Given the description of an element on the screen output the (x, y) to click on. 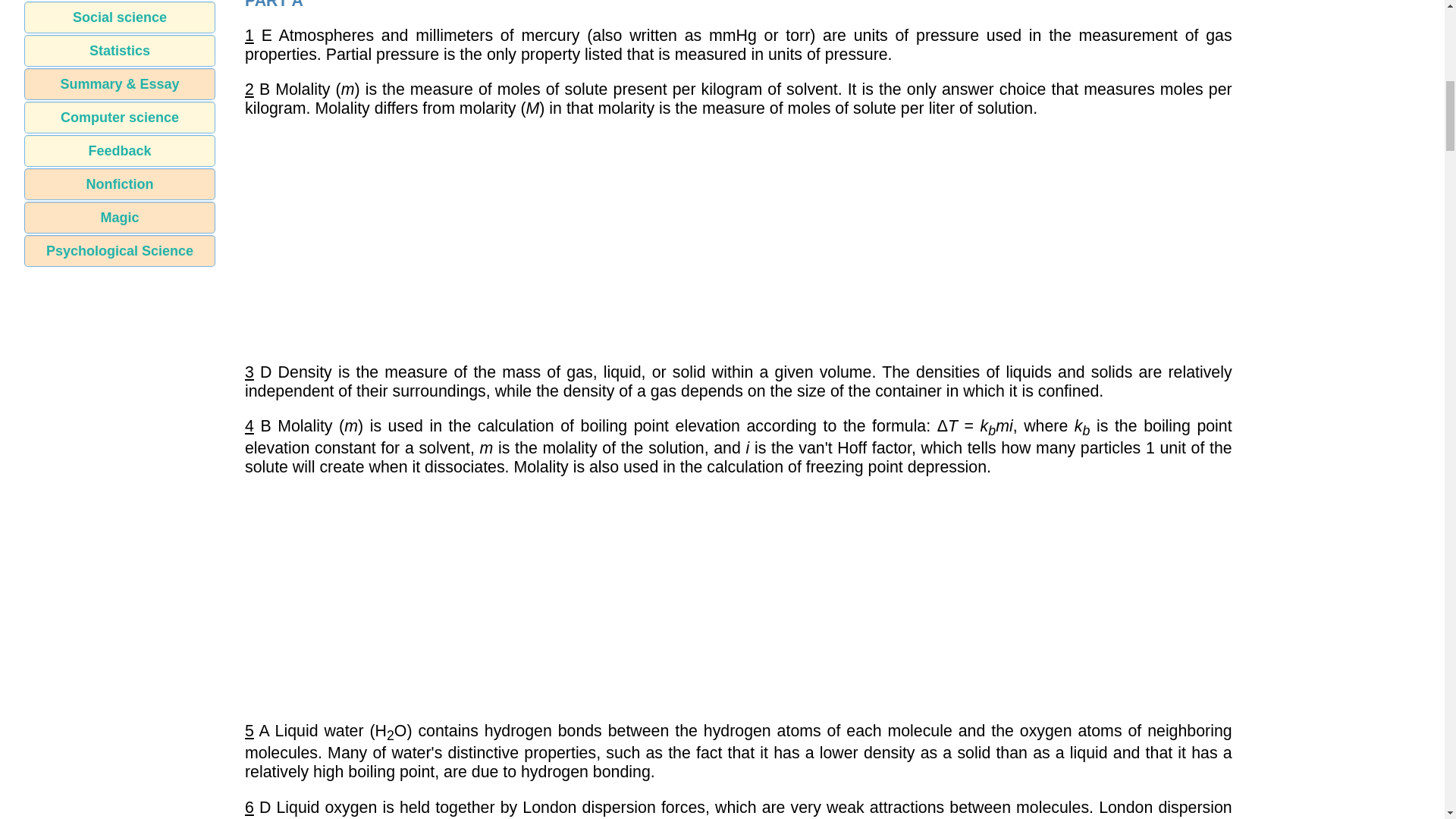
Magic (119, 217)
Psychological Science (119, 250)
Social science (119, 17)
Statistics (119, 50)
Nonfiction (119, 183)
Feedback (119, 151)
Computer science (119, 117)
